Given the description of an element on the screen output the (x, y) to click on. 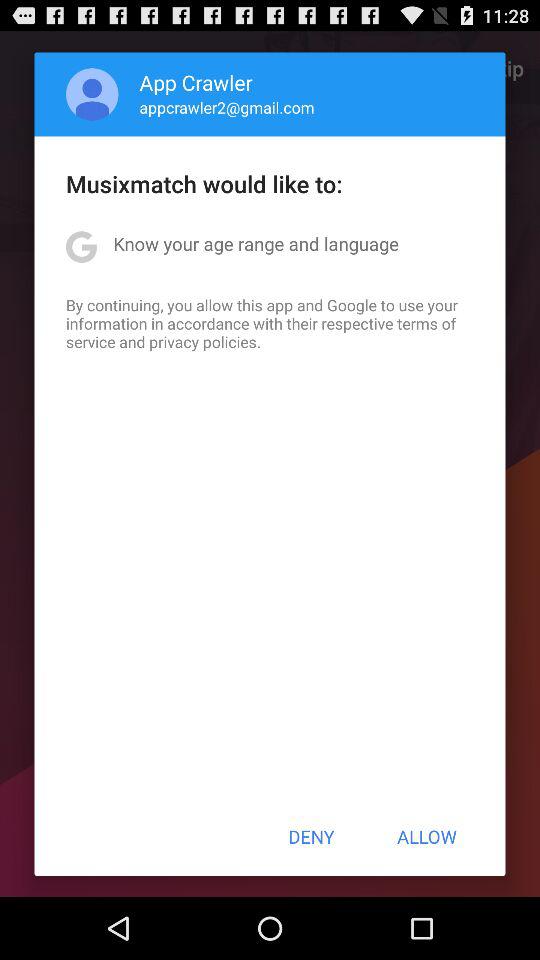
scroll to the app crawler app (195, 82)
